Given the description of an element on the screen output the (x, y) to click on. 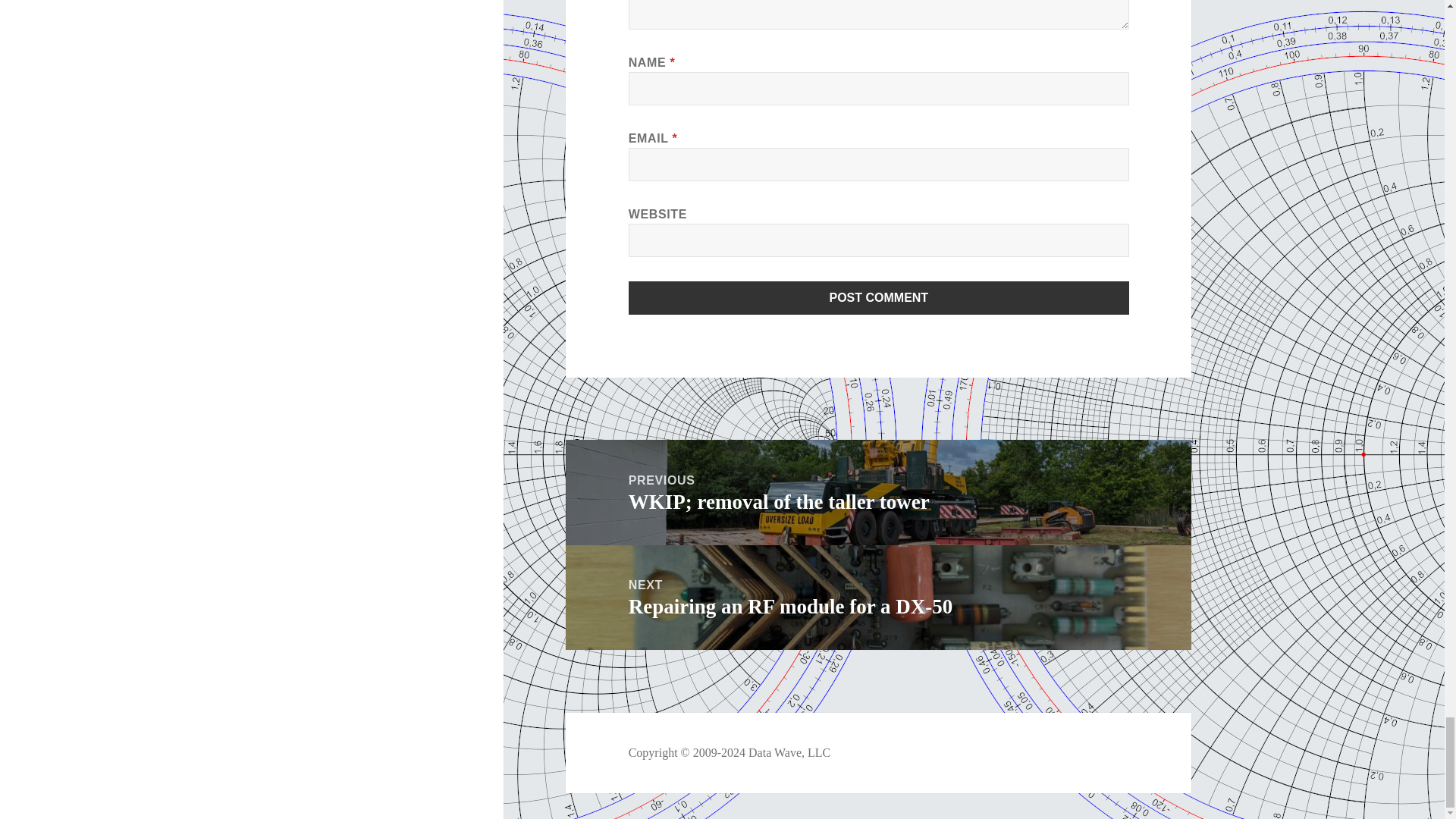
Post Comment (878, 297)
